Given the description of an element on the screen output the (x, y) to click on. 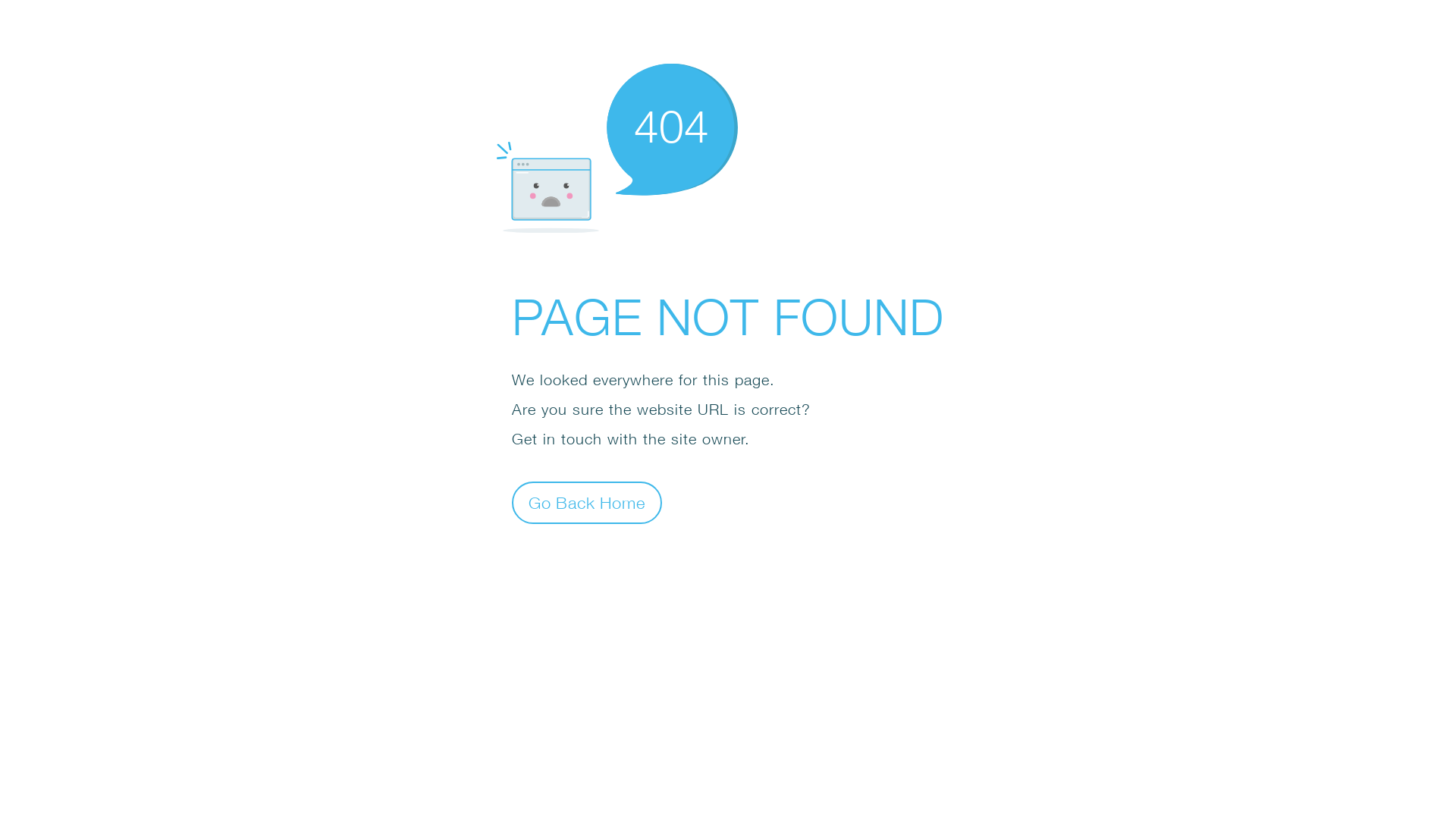
Go Back Home Element type: text (586, 502)
